Given the description of an element on the screen output the (x, y) to click on. 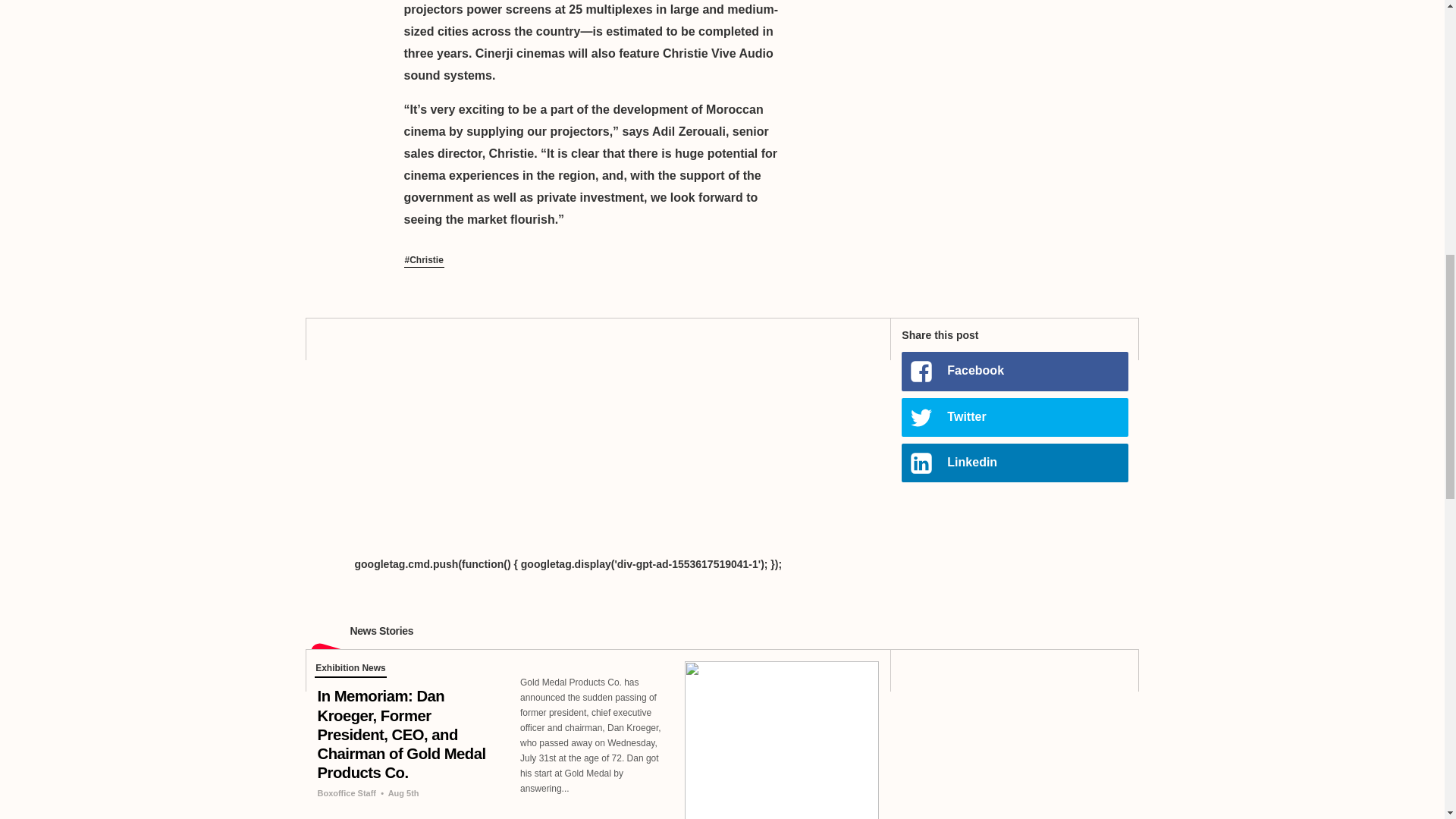
Exhibition News (349, 670)
Twitter (1013, 417)
Christie (423, 260)
Linkedin (1013, 462)
Facebook (1013, 371)
